Given the description of an element on the screen output the (x, y) to click on. 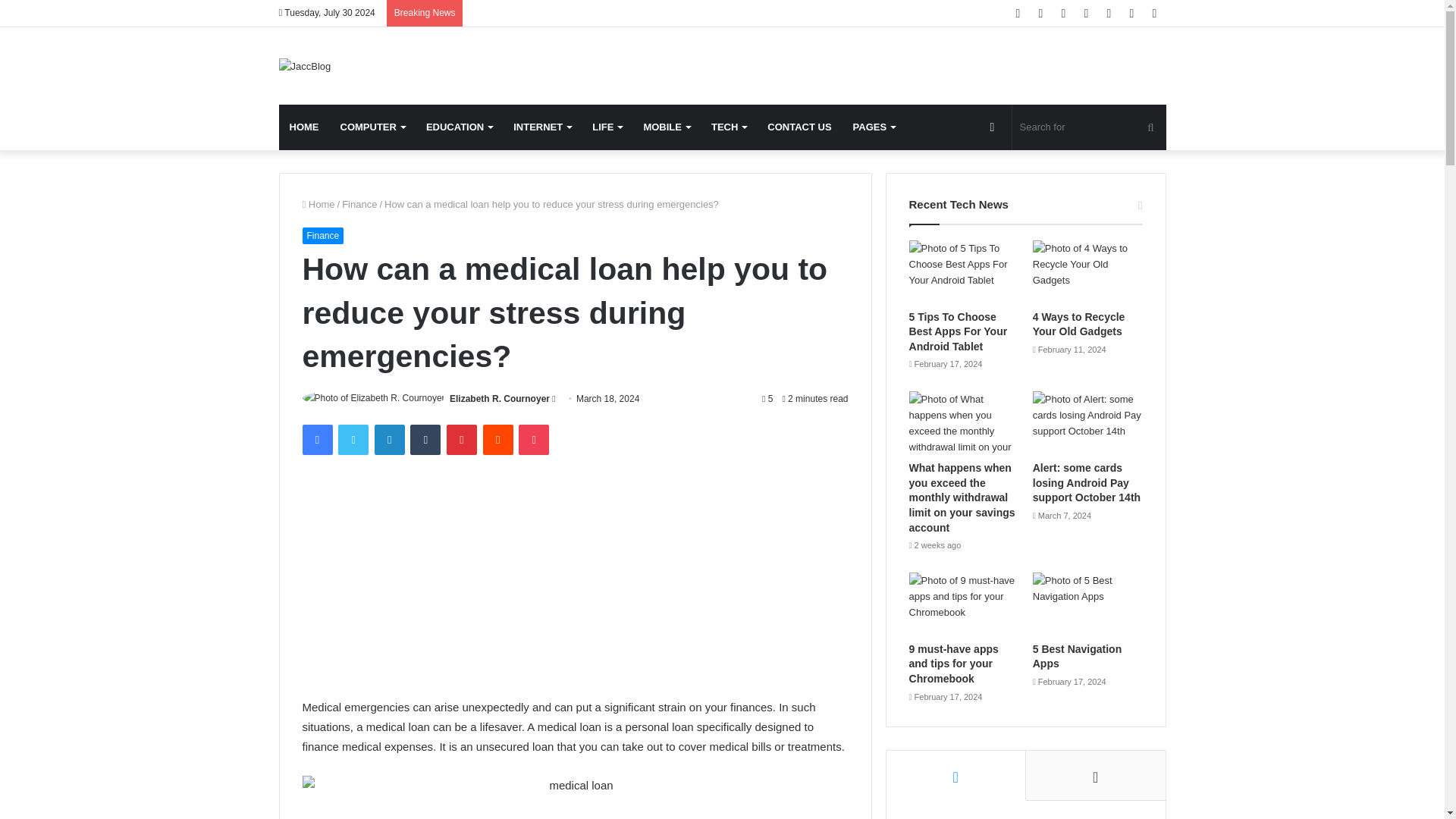
Facebook (316, 440)
Pinterest (461, 440)
Tumblr (425, 440)
HOME (304, 126)
EDUCATION (458, 126)
Pocket (533, 440)
INTERNET (541, 126)
COMPUTER (371, 126)
LIFE (605, 126)
Reddit (498, 440)
Twitter (352, 440)
Search for (1088, 126)
LinkedIn (389, 440)
Elizabeth R. Cournoyer (499, 398)
